Given the description of an element on the screen output the (x, y) to click on. 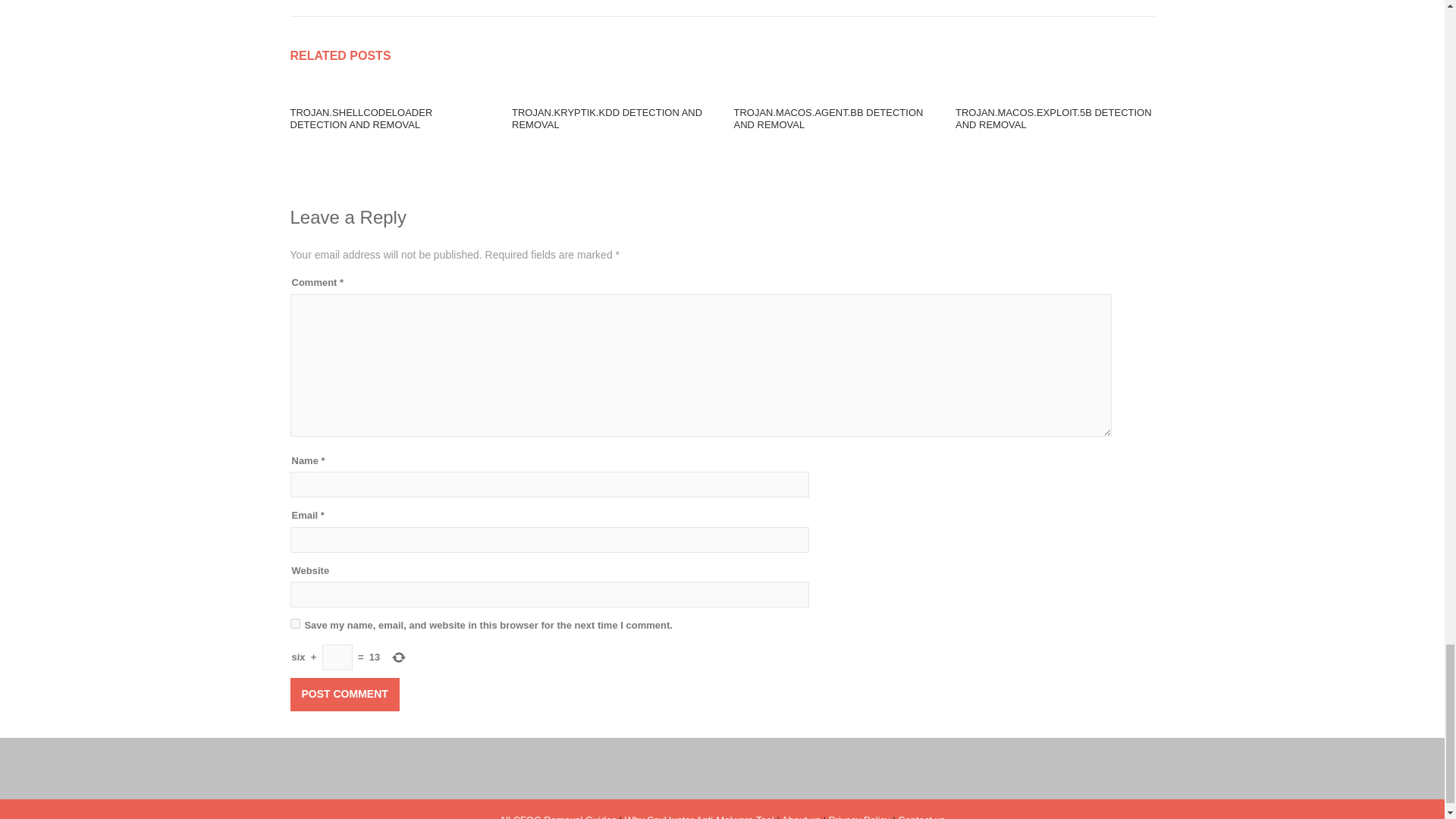
Post Comment (343, 694)
TROJAN.MACOS.AGENT.BB DETECTION AND REMOVAL (828, 119)
TROJAN.MACOS.EXPLOIT.5B DETECTION AND REMOVAL (1053, 119)
About us (801, 816)
All CFOC Removal Guides (558, 816)
Contact us (921, 816)
Why SpyHunter Anti-Malware Tool (699, 816)
TROJAN.KRYPTIK.KDD DETECTION AND REMOVAL (606, 119)
Post Comment (343, 694)
yes (294, 623)
